Given the description of an element on the screen output the (x, y) to click on. 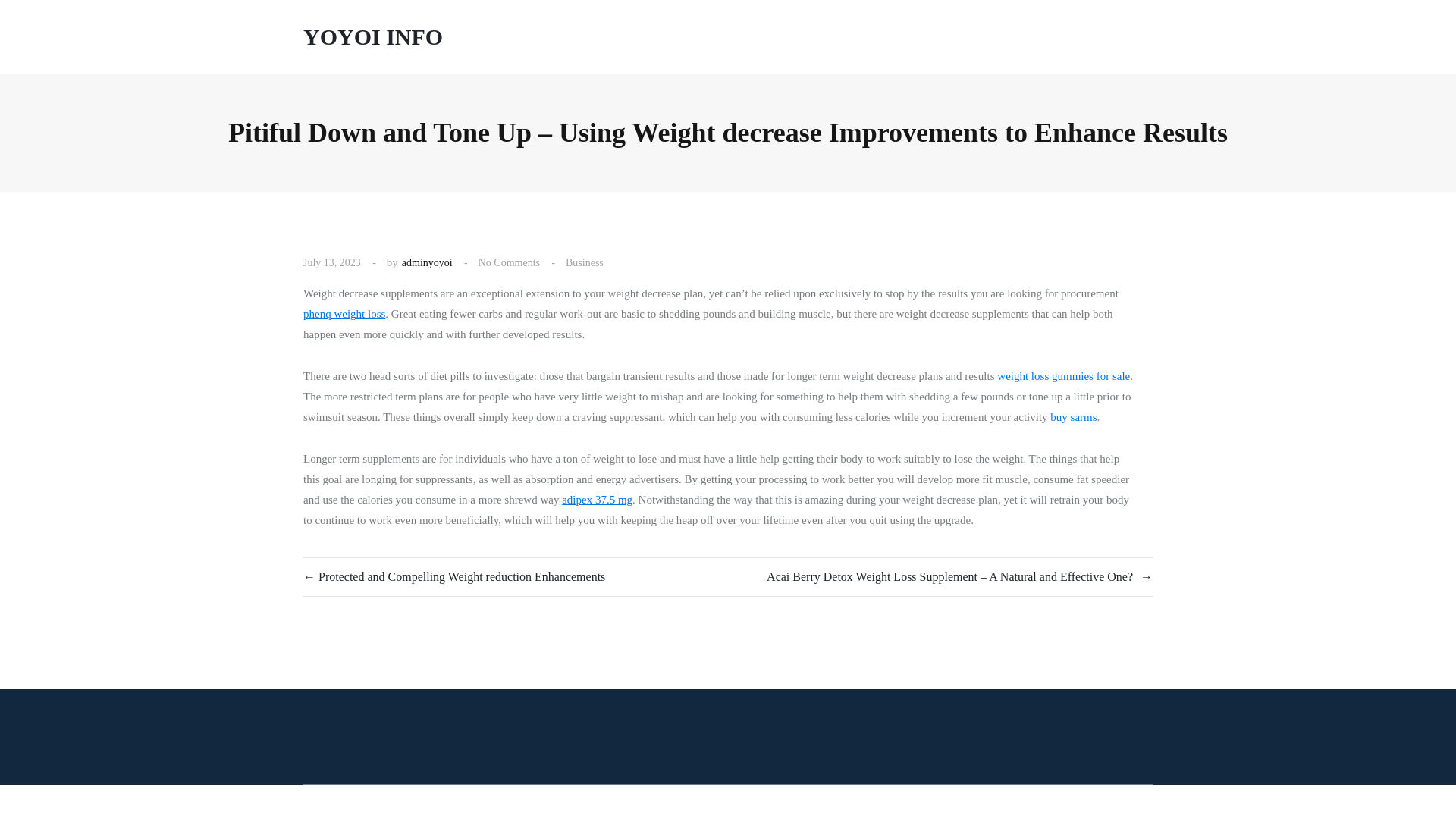
YOYOI INFO (372, 36)
weight loss gummies for sale (1063, 376)
phenq weight loss (343, 313)
July 13, 2023 (331, 262)
adipex 37.5 mg (596, 499)
No Comments (509, 262)
YOYOI INFO (372, 36)
Post Date (331, 262)
adminyoyoi (426, 262)
buy sarms (1072, 417)
Post Author (426, 262)
Business (585, 262)
Number of comments (509, 262)
